Given the description of an element on the screen output the (x, y) to click on. 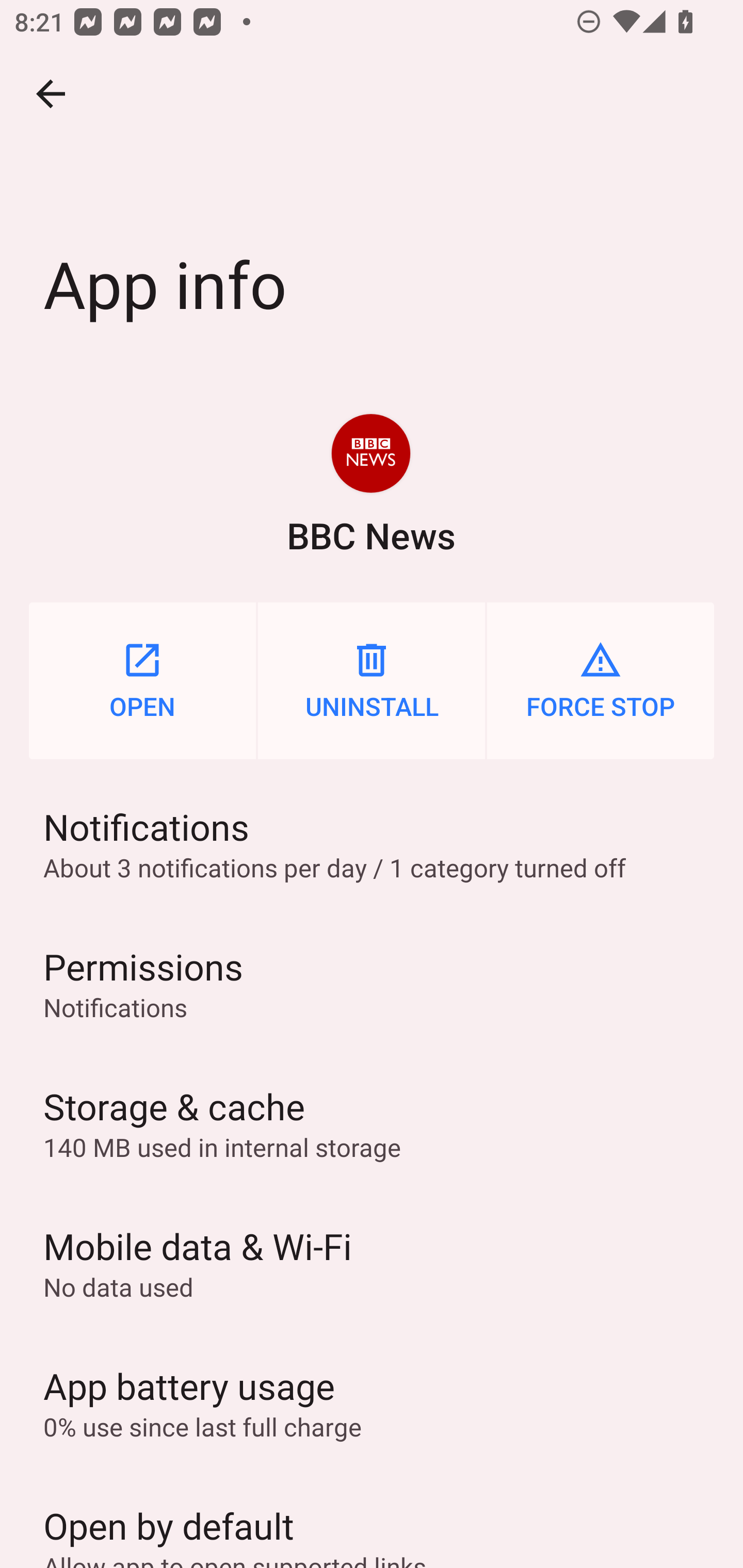
Navigate up (50, 93)
OPEN (141, 680)
UNINSTALL (371, 680)
FORCE STOP (600, 680)
Permissions Notifications (371, 983)
Storage & cache 140 MB used in internal storage (371, 1123)
Mobile data & Wi‑Fi No data used (371, 1262)
App battery usage 0% use since last full charge (371, 1402)
Open by default Allow app to open supported links (371, 1520)
